Given the description of an element on the screen output the (x, y) to click on. 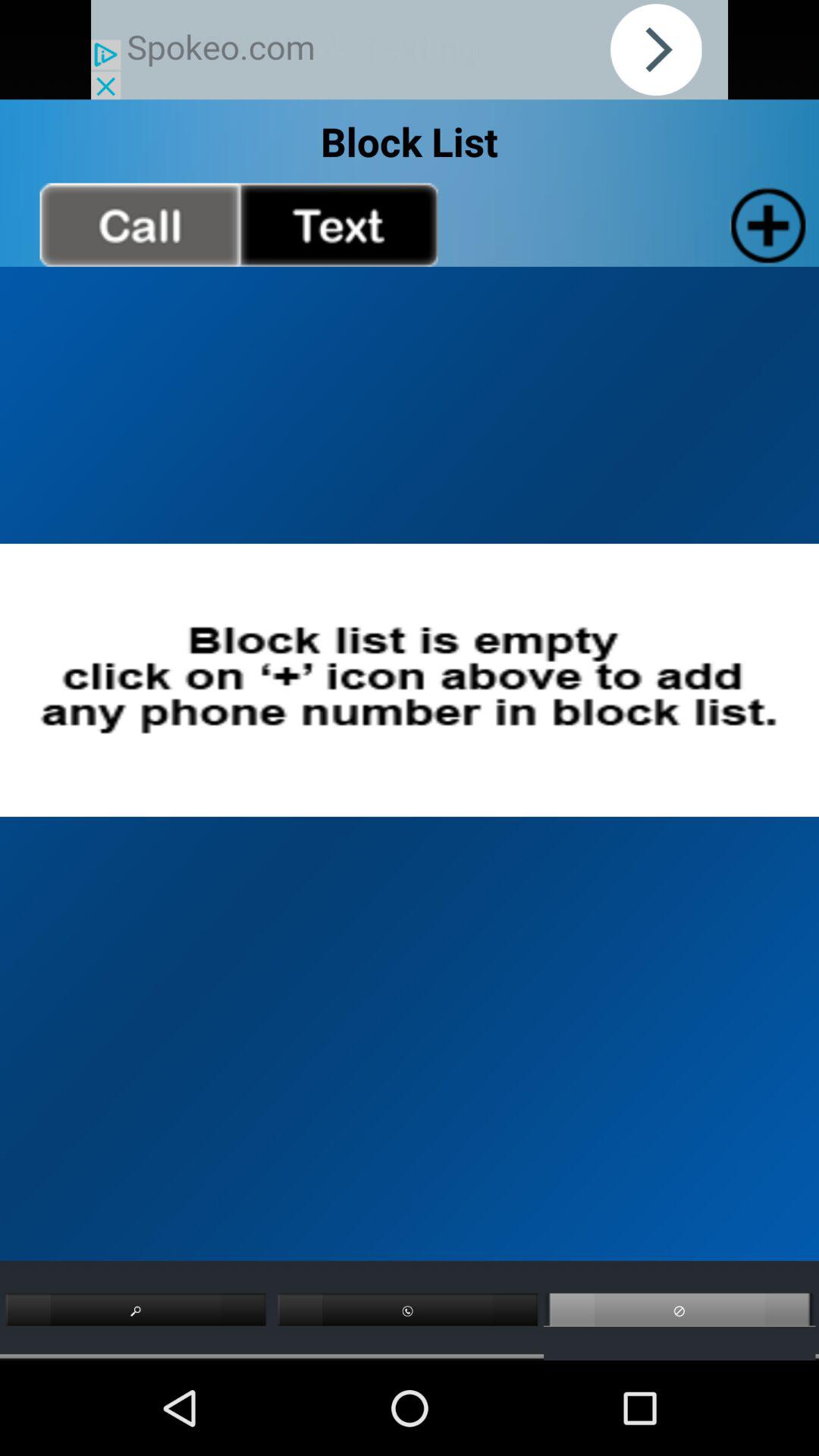
add phone to block list (765, 224)
